Given the description of an element on the screen output the (x, y) to click on. 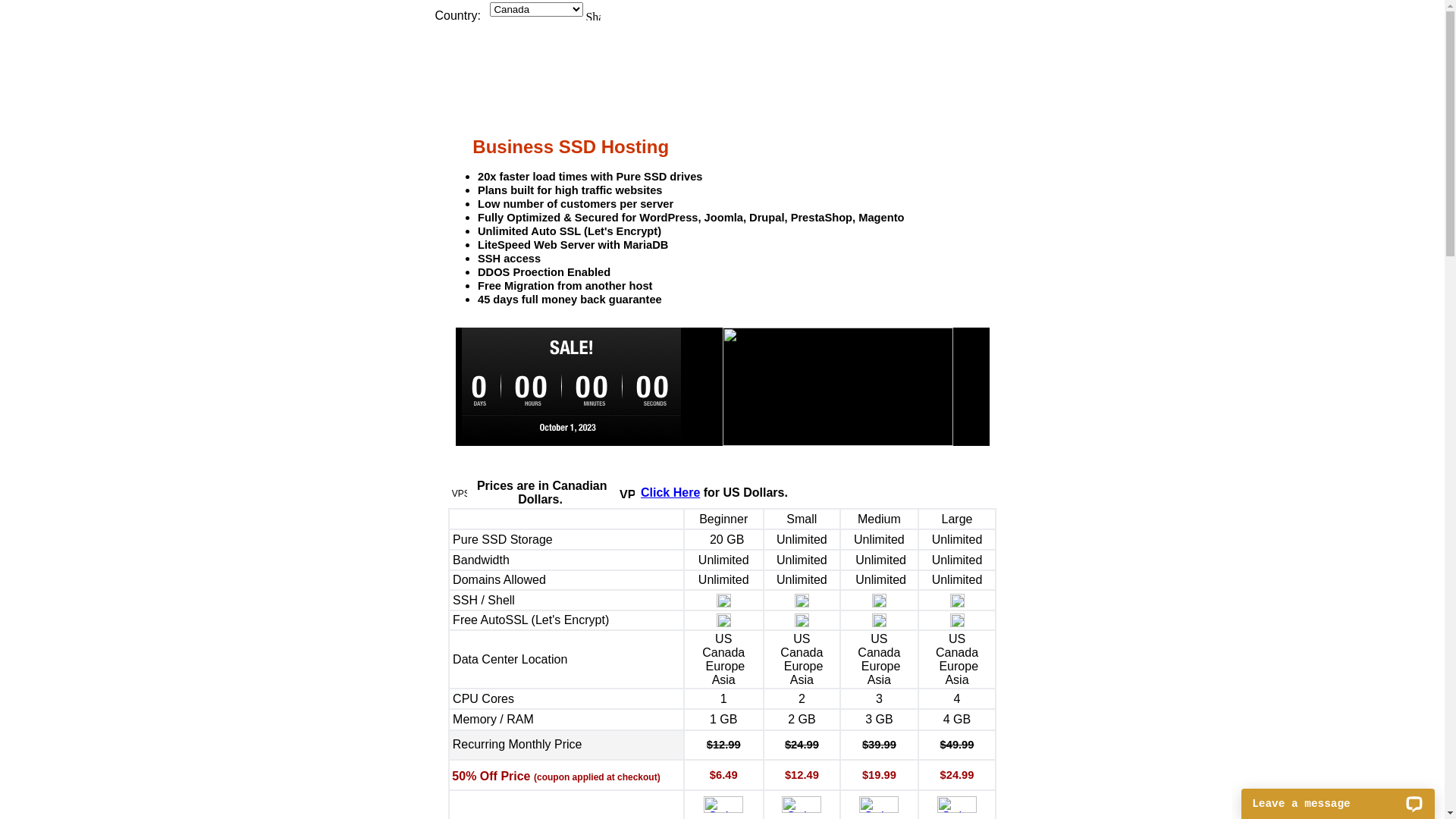
Click Here Element type: text (669, 492)
